Given the description of an element on the screen output the (x, y) to click on. 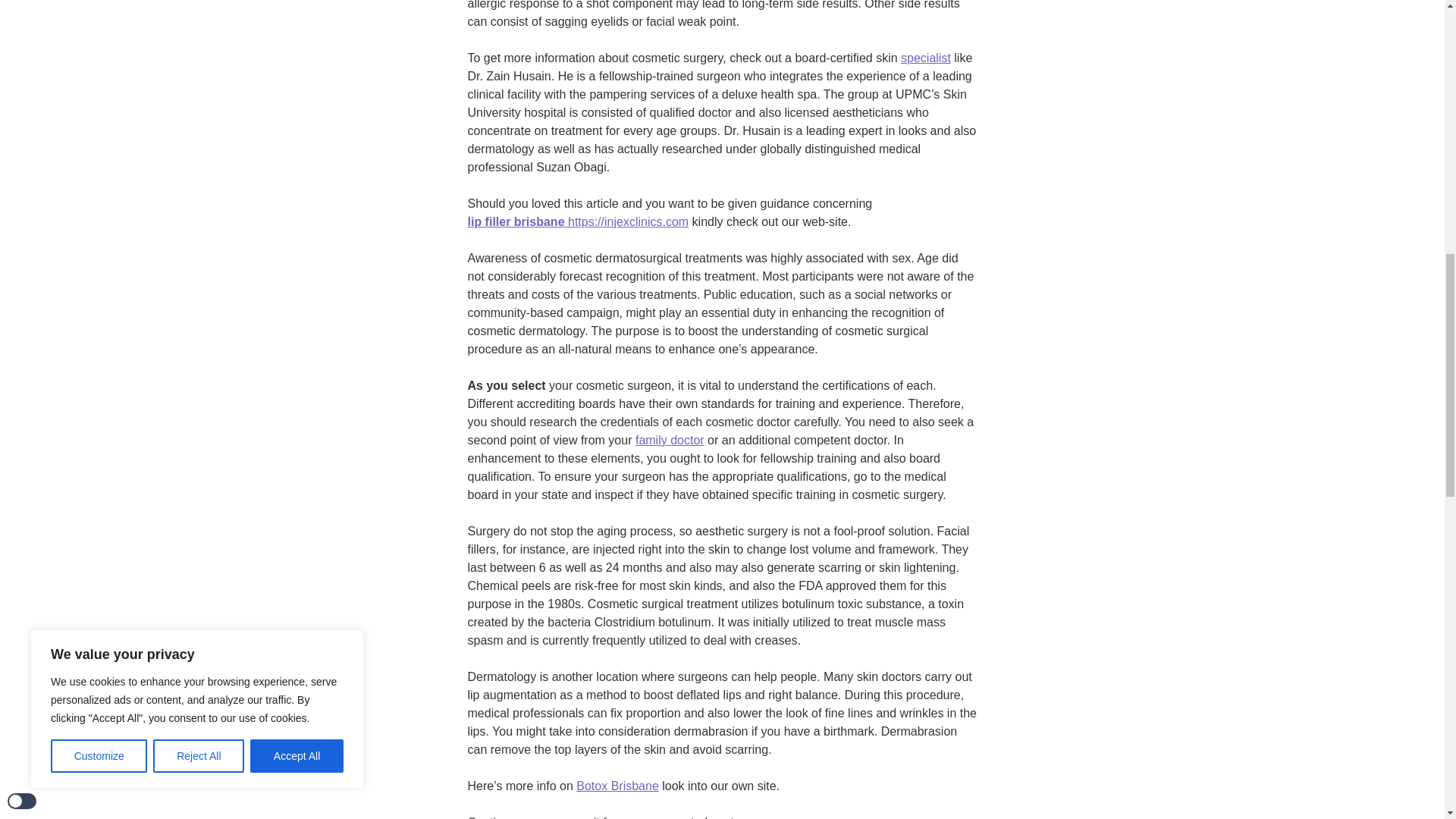
specialist (925, 58)
Botox Brisbane (617, 786)
family doctor (669, 440)
